Given the description of an element on the screen output the (x, y) to click on. 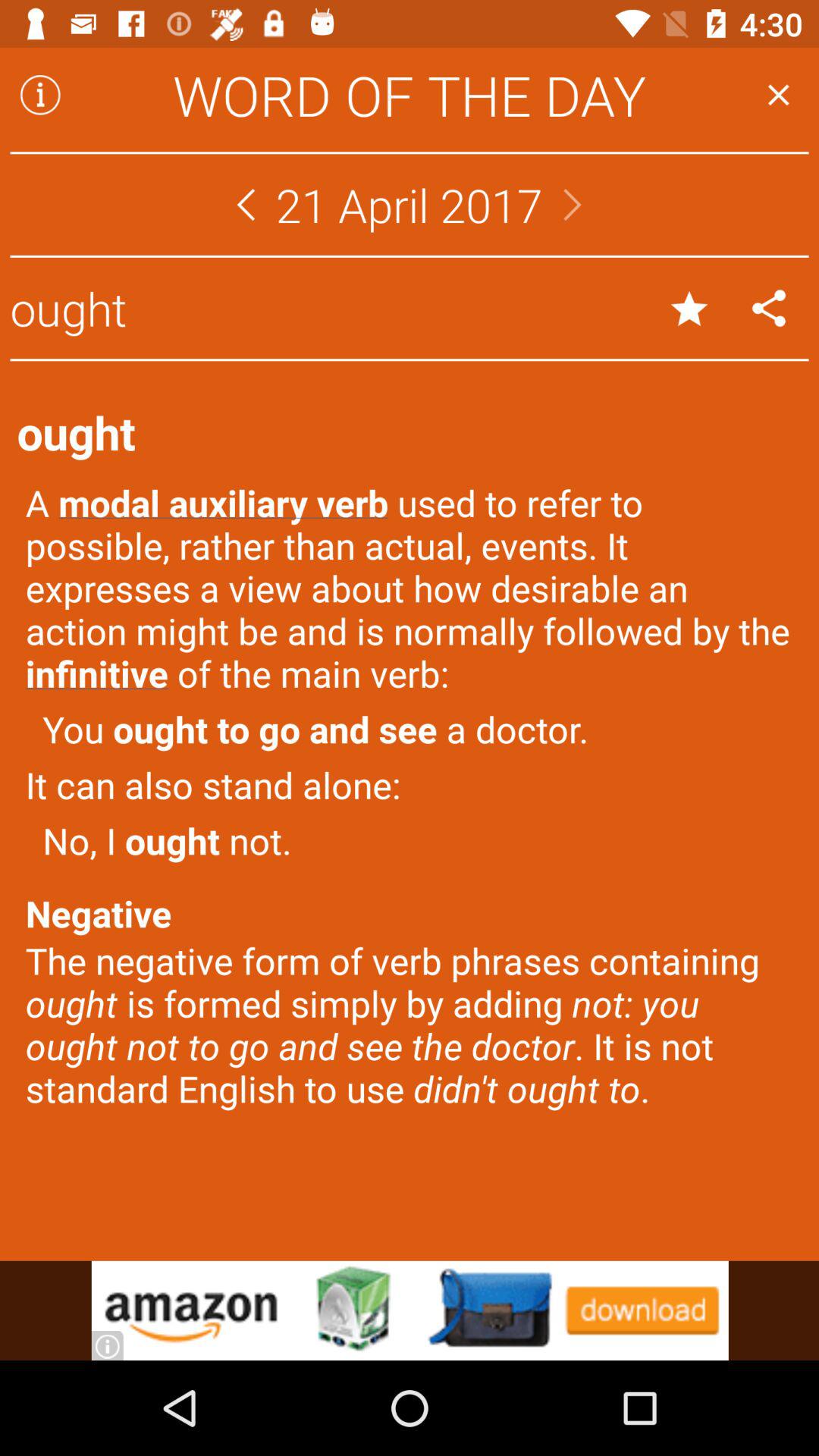
more information (40, 94)
